Given the description of an element on the screen output the (x, y) to click on. 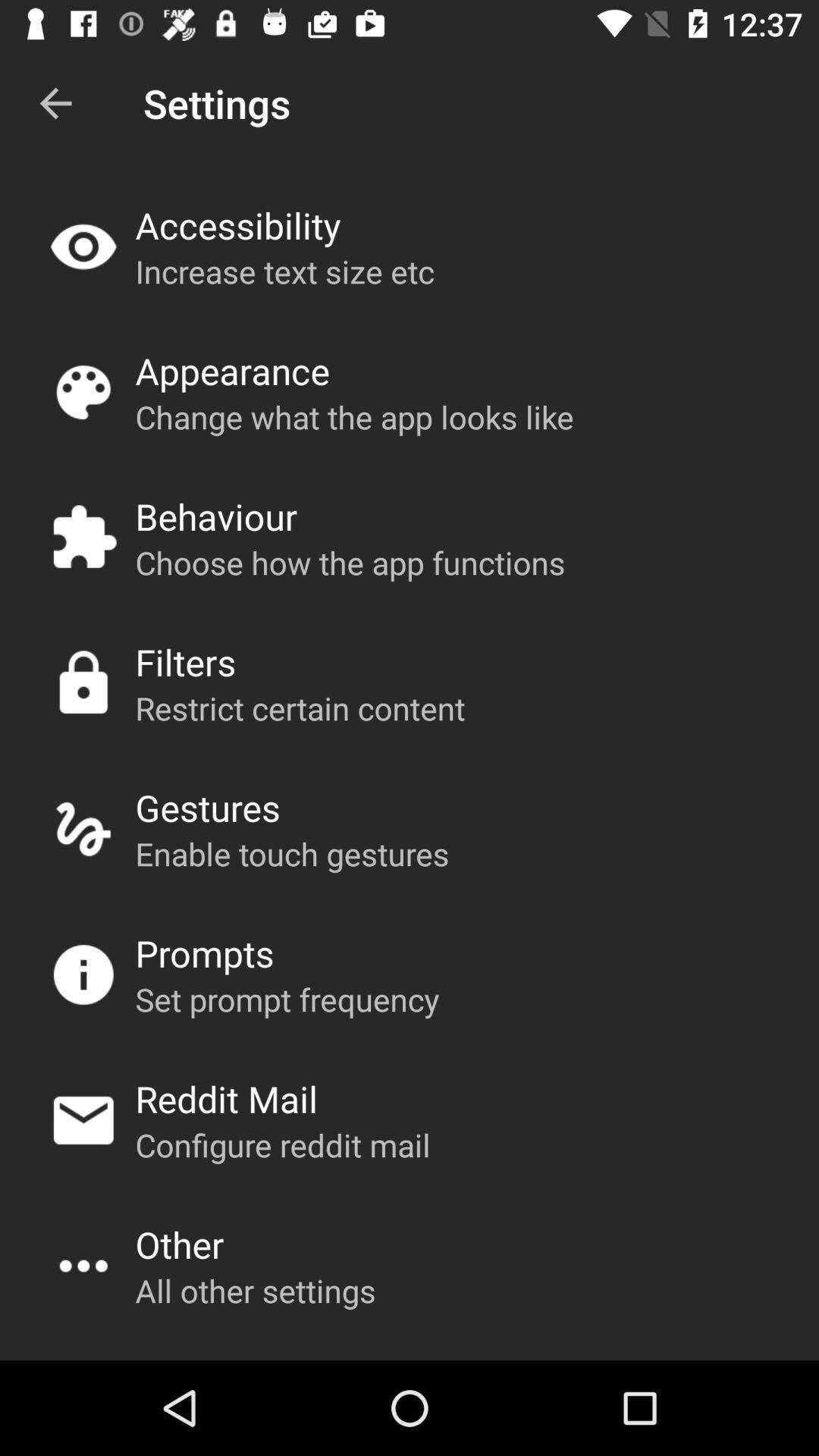
scroll to restrict certain content app (300, 707)
